Given the description of an element on the screen output the (x, y) to click on. 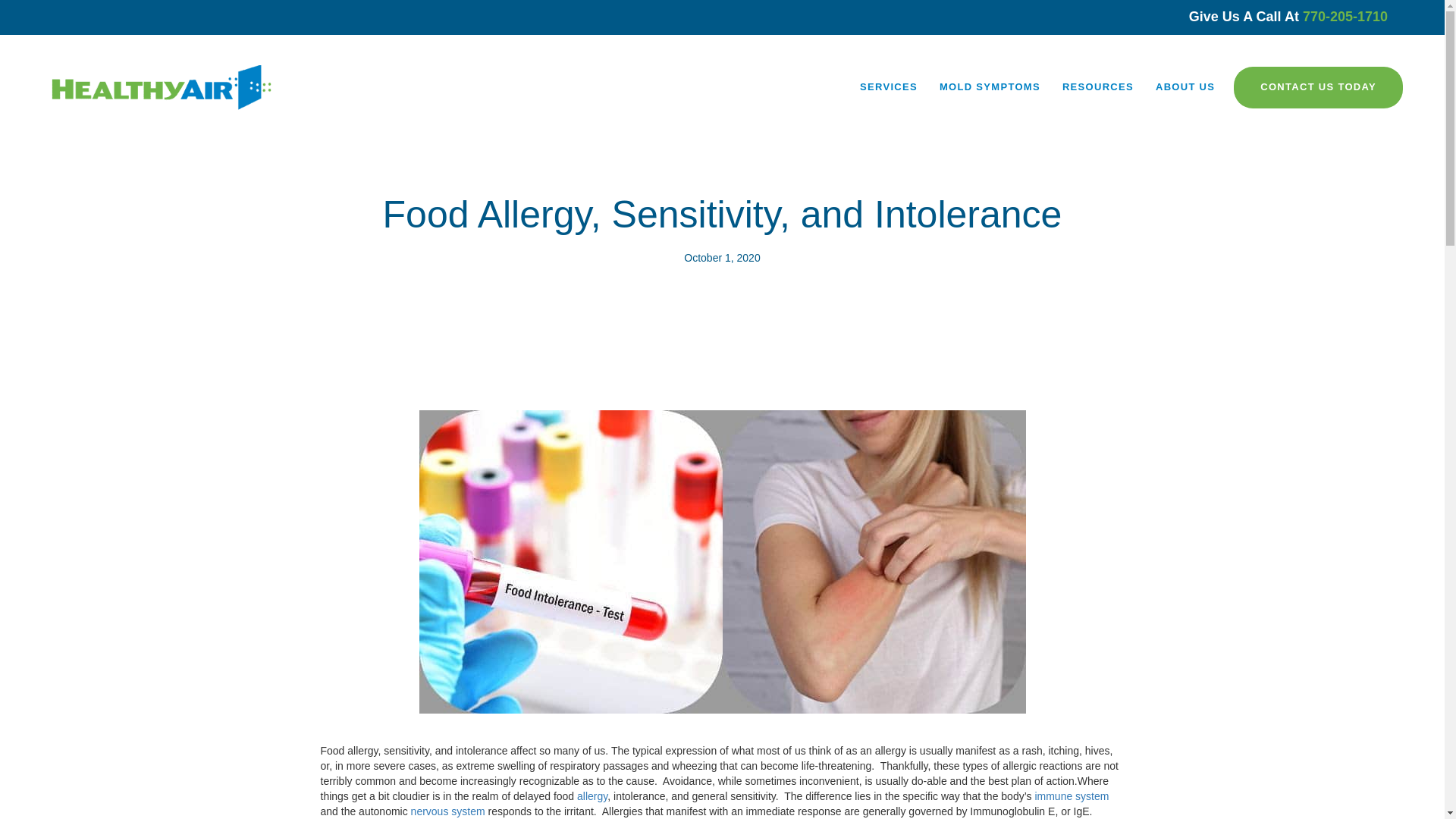
healthyair-logo (161, 87)
ABOUT US (1184, 87)
MOLD SYMPTOMS (989, 87)
770-205-1710 (1345, 16)
SERVICES (888, 87)
CONTACT US TODAY (1318, 87)
RESOURCES (1097, 87)
